Given the description of an element on the screen output the (x, y) to click on. 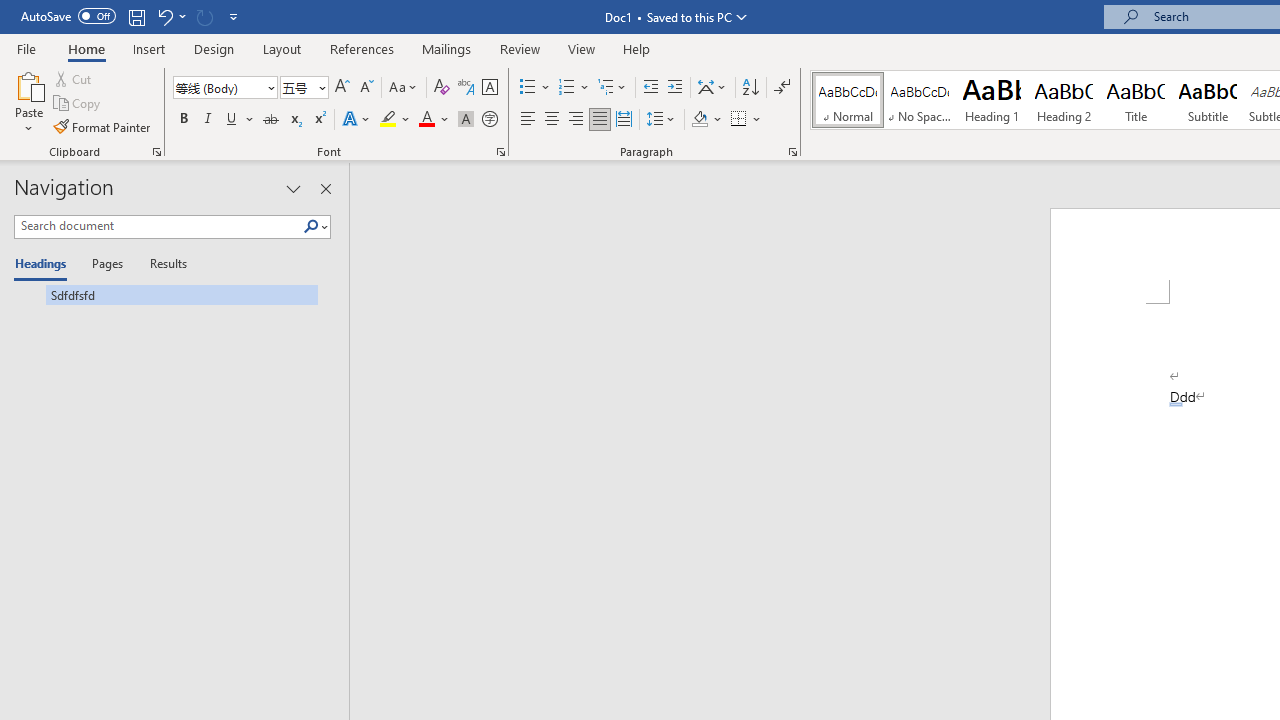
Character Border (489, 87)
Paste (28, 102)
Text Effects and Typography (357, 119)
Paste (28, 84)
Bold (183, 119)
Layout (282, 48)
Open (320, 87)
Save (136, 15)
Title (1135, 100)
Sort... (750, 87)
Mailings (447, 48)
Shading RGB(0, 0, 0) (699, 119)
Review (520, 48)
Shrink Font (365, 87)
Font (224, 87)
